Given the description of an element on the screen output the (x, y) to click on. 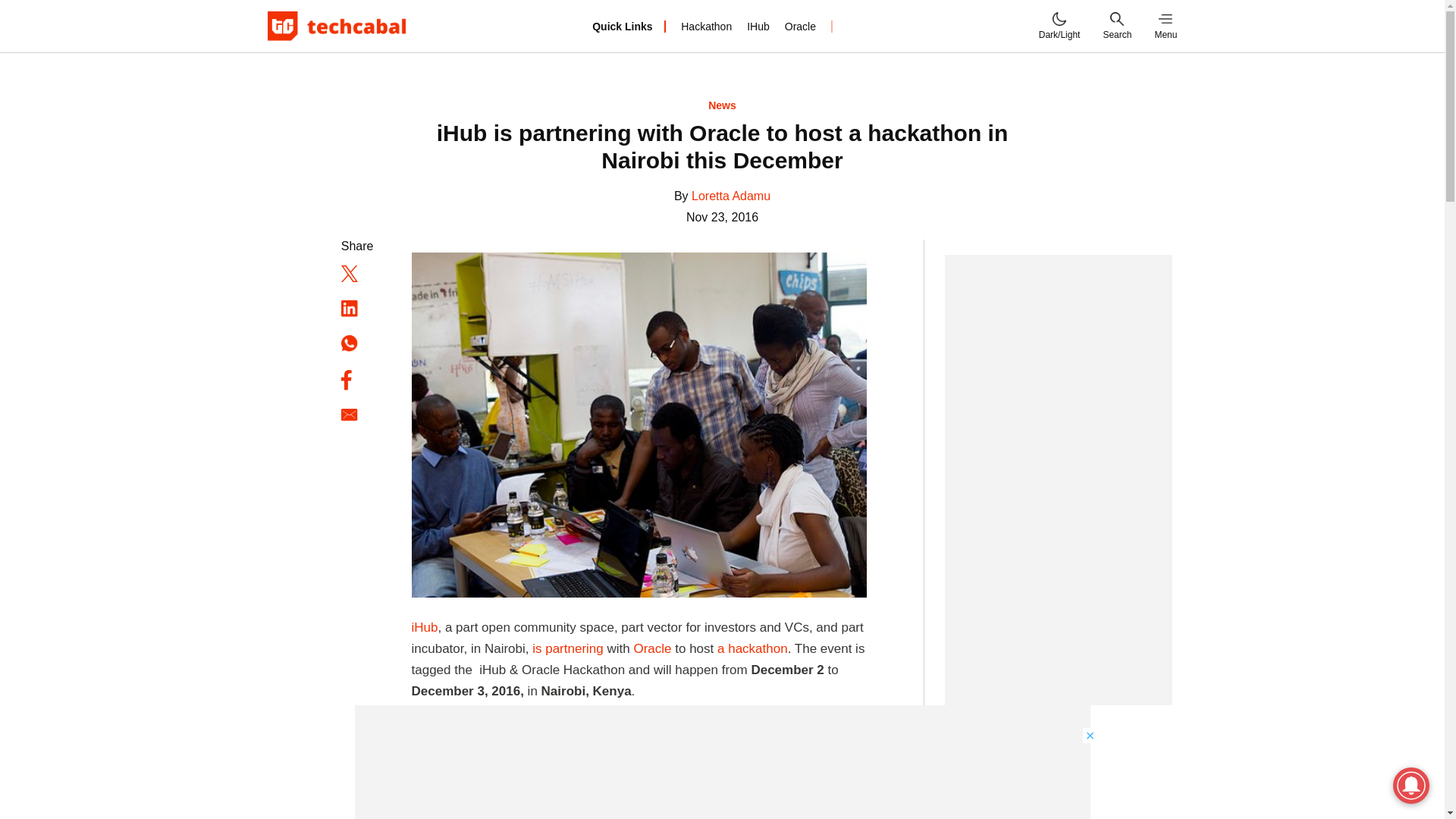
Search (1116, 26)
Posts by Loretta Adamu (730, 195)
3rd party ad content (722, 762)
Oracle (799, 25)
IHub (758, 25)
Hackathon (706, 25)
News (721, 105)
